Given the description of an element on the screen output the (x, y) to click on. 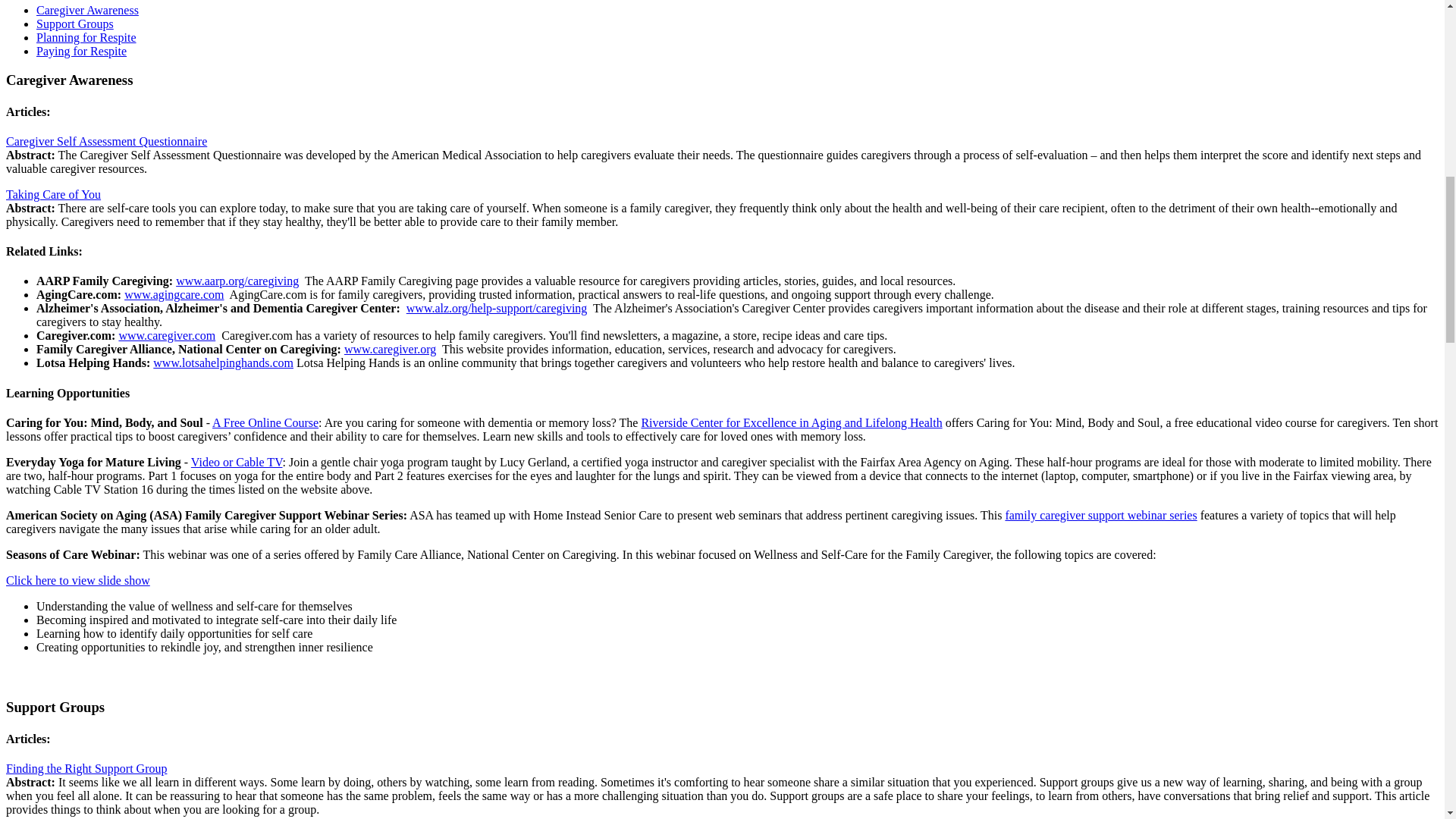
Taking Care of You (52, 194)
www.lotsahelpinghands.com (223, 362)
Video or Cable TV (236, 461)
www.agingcare.com (173, 294)
Paying for Respite (81, 51)
Support Groups (74, 23)
Click here to view slide show (77, 580)
Planning for Respite (86, 37)
A Free Online Course (265, 422)
family caregiver support webinar series (1100, 514)
Caregiver Self Assessment Questionnaire (105, 141)
www.caregiver.com (166, 335)
Caregiver Awareness (87, 10)
www.caregiver.org (389, 349)
Riverside Center for Excellence in Aging and Lifelong Health (791, 422)
